Given the description of an element on the screen output the (x, y) to click on. 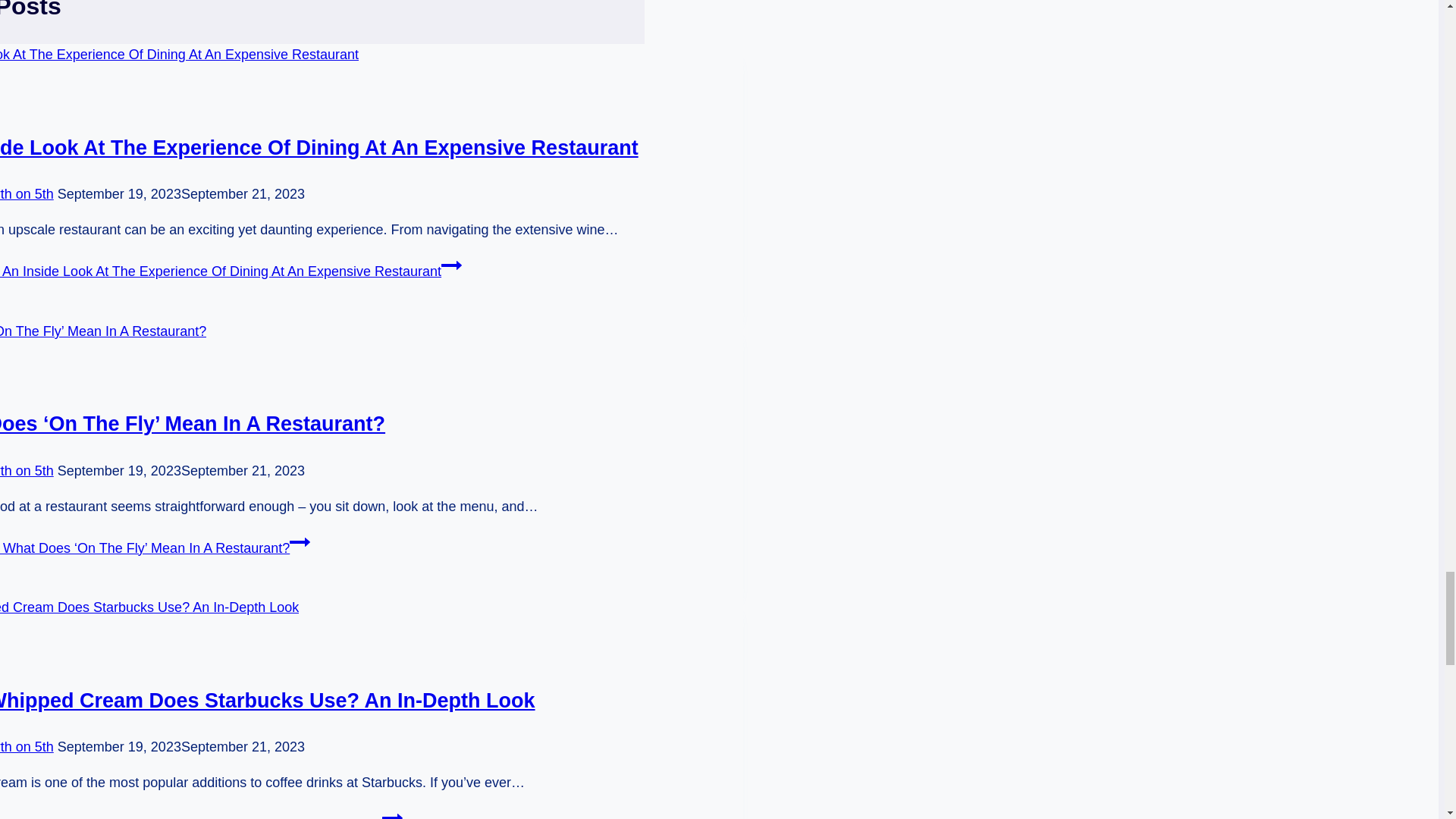
Woolworth on 5th (26, 193)
Continue (299, 541)
Woolworth on 5th (26, 470)
What Whipped Cream Does Starbucks Use? An In-Depth Look (267, 700)
Woolworth on 5th (26, 746)
Continue (451, 265)
Continue (392, 813)
